Given the description of an element on the screen output the (x, y) to click on. 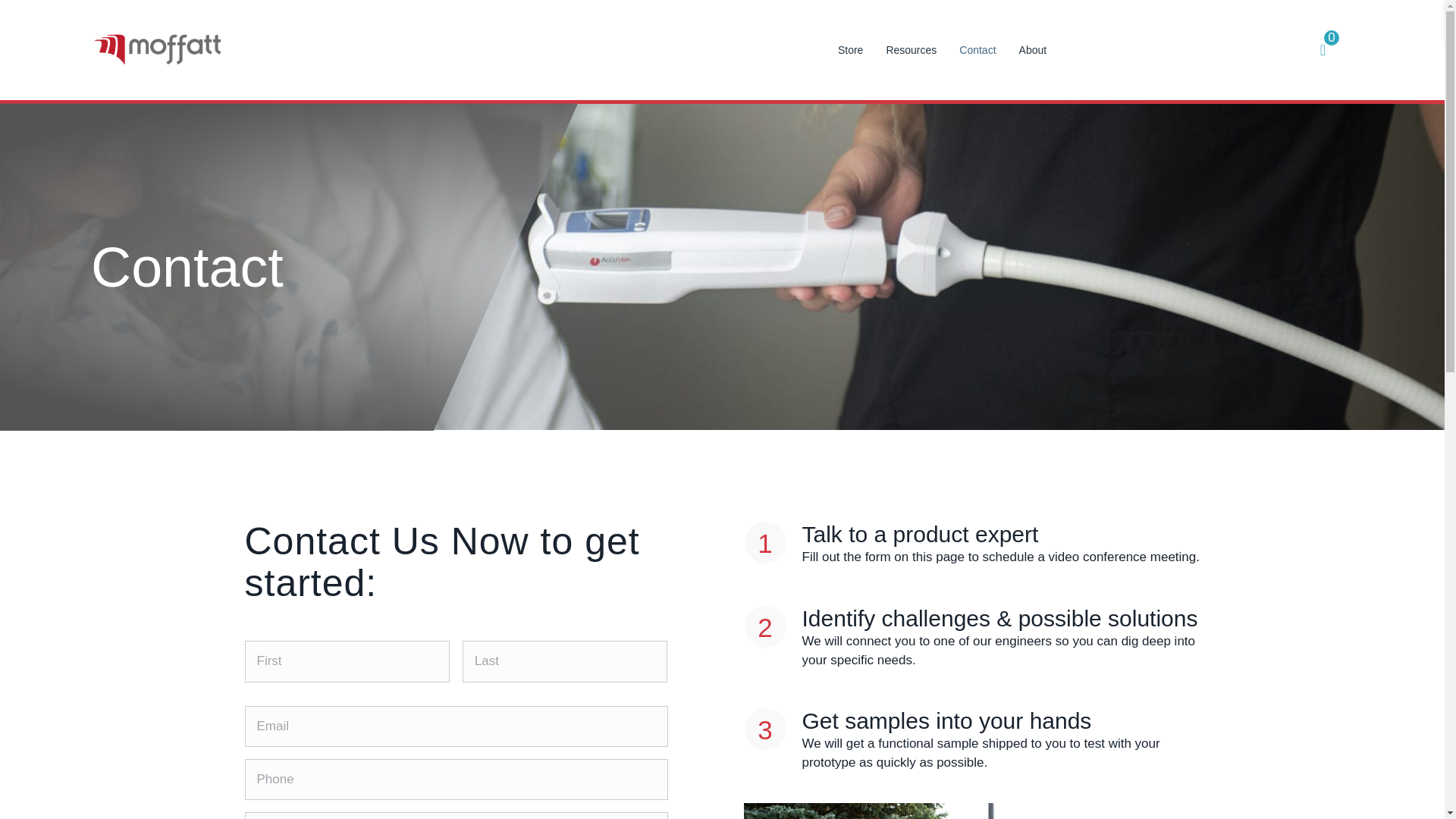
About (1032, 49)
Moffatt logo (157, 49)
Resources (910, 49)
Contact (977, 49)
Moffatt Products Team Photo (970, 811)
Store (849, 49)
